Given the description of an element on the screen output the (x, y) to click on. 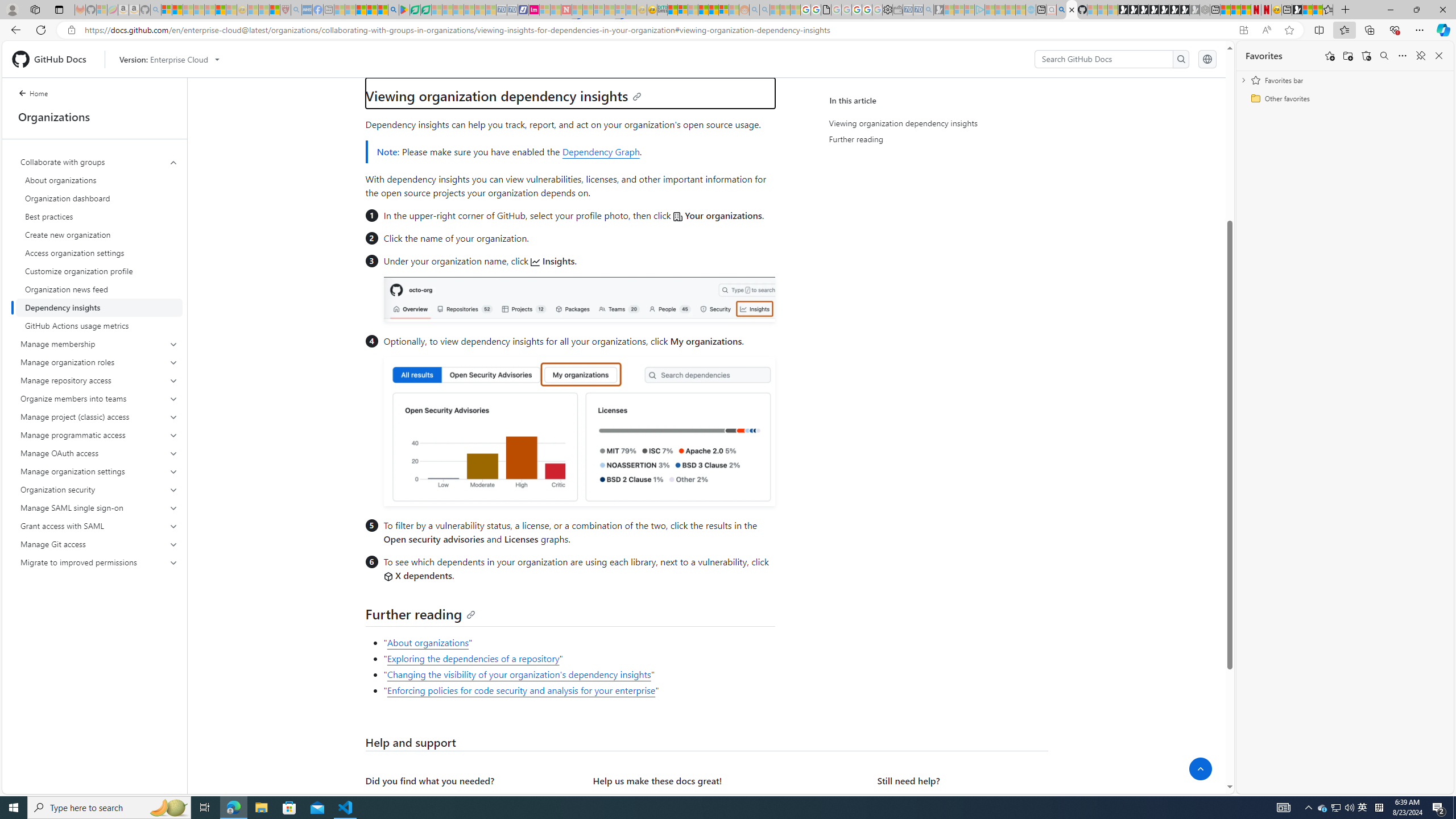
Terms of Use Agreement (414, 9)
Organization news feed (99, 289)
Manage organization settings (99, 471)
Create new organization (99, 235)
GitHub Actions usage metrics (99, 325)
Scroll to top (1200, 768)
